Given the description of an element on the screen output the (x, y) to click on. 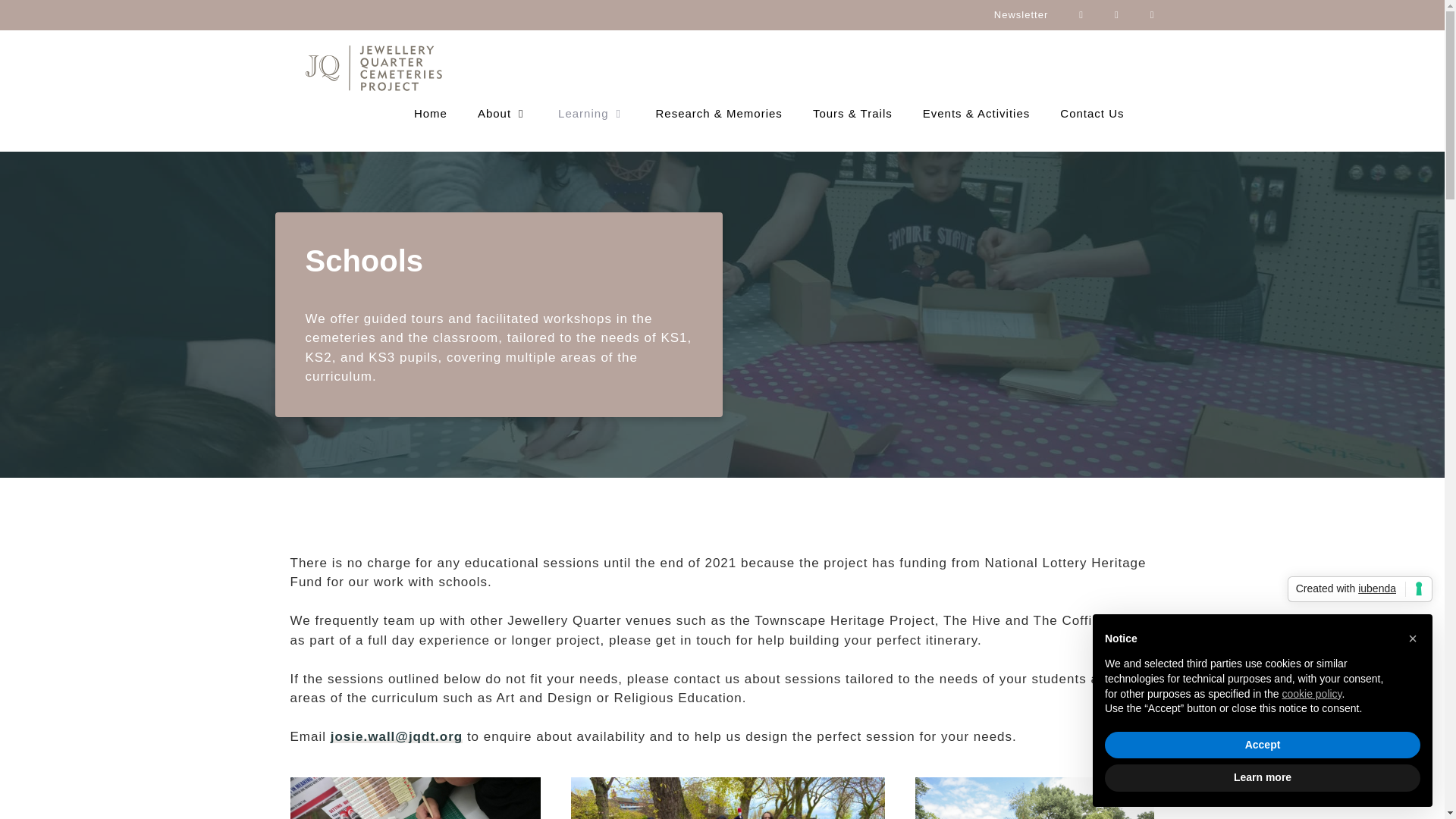
About (503, 113)
jqa war memorial (727, 798)
Newsletter (1020, 15)
Learning (591, 113)
Contact Us (1091, 113)
Home (430, 113)
